Given the description of an element on the screen output the (x, y) to click on. 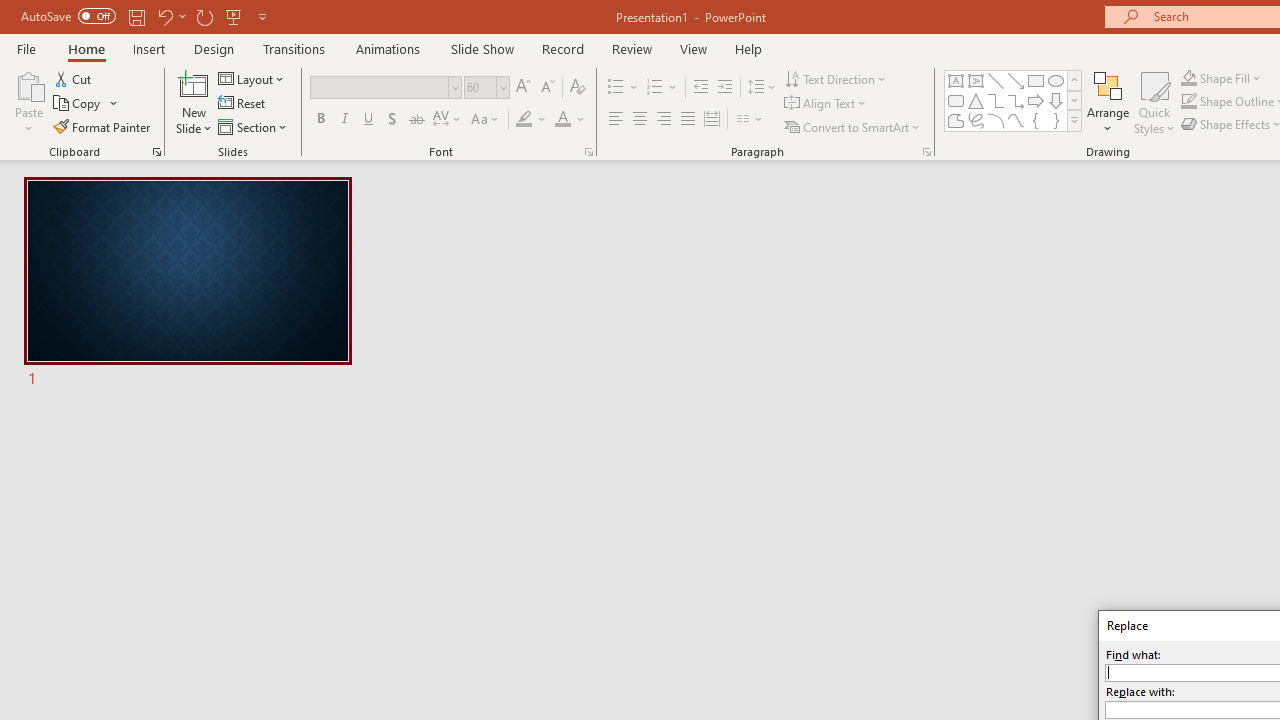
Underline (369, 119)
Justify (687, 119)
Font Color (569, 119)
Line Spacing (762, 87)
Oval (1055, 80)
